Given the description of an element on the screen output the (x, y) to click on. 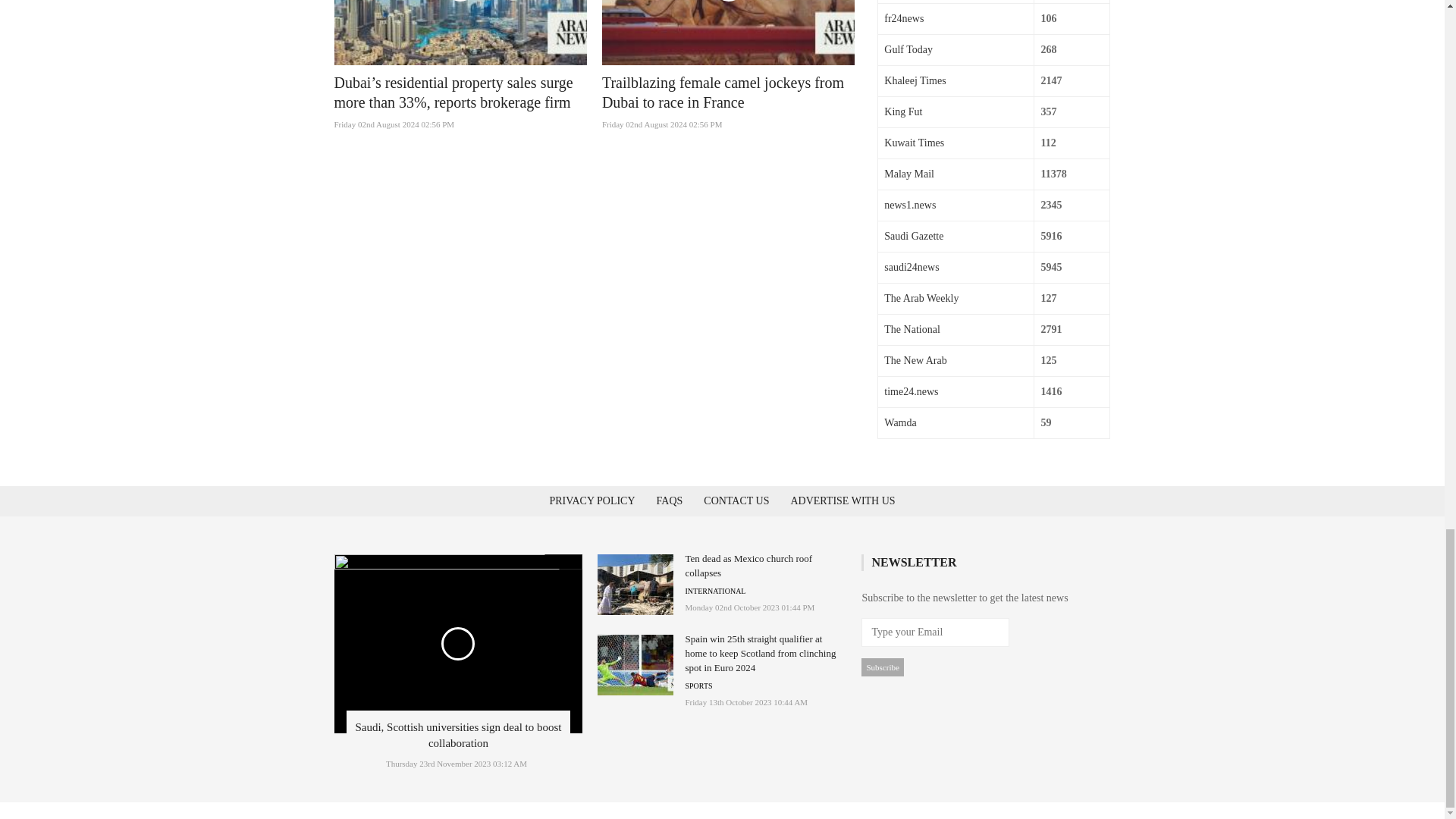
Subscribe (881, 667)
